Given the description of an element on the screen output the (x, y) to click on. 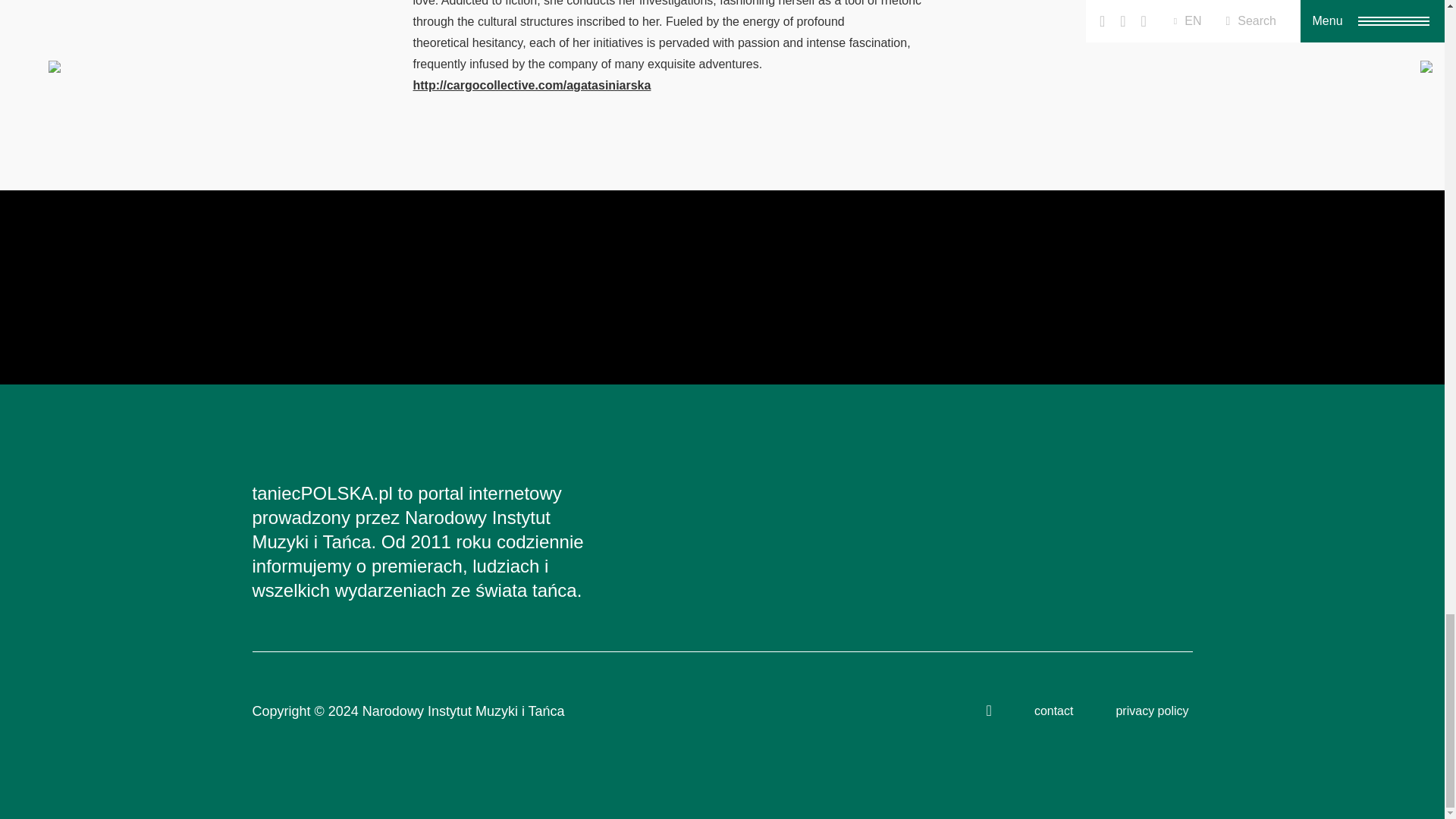
privacy policy (1151, 710)
contact (1053, 710)
